Given the description of an element on the screen output the (x, y) to click on. 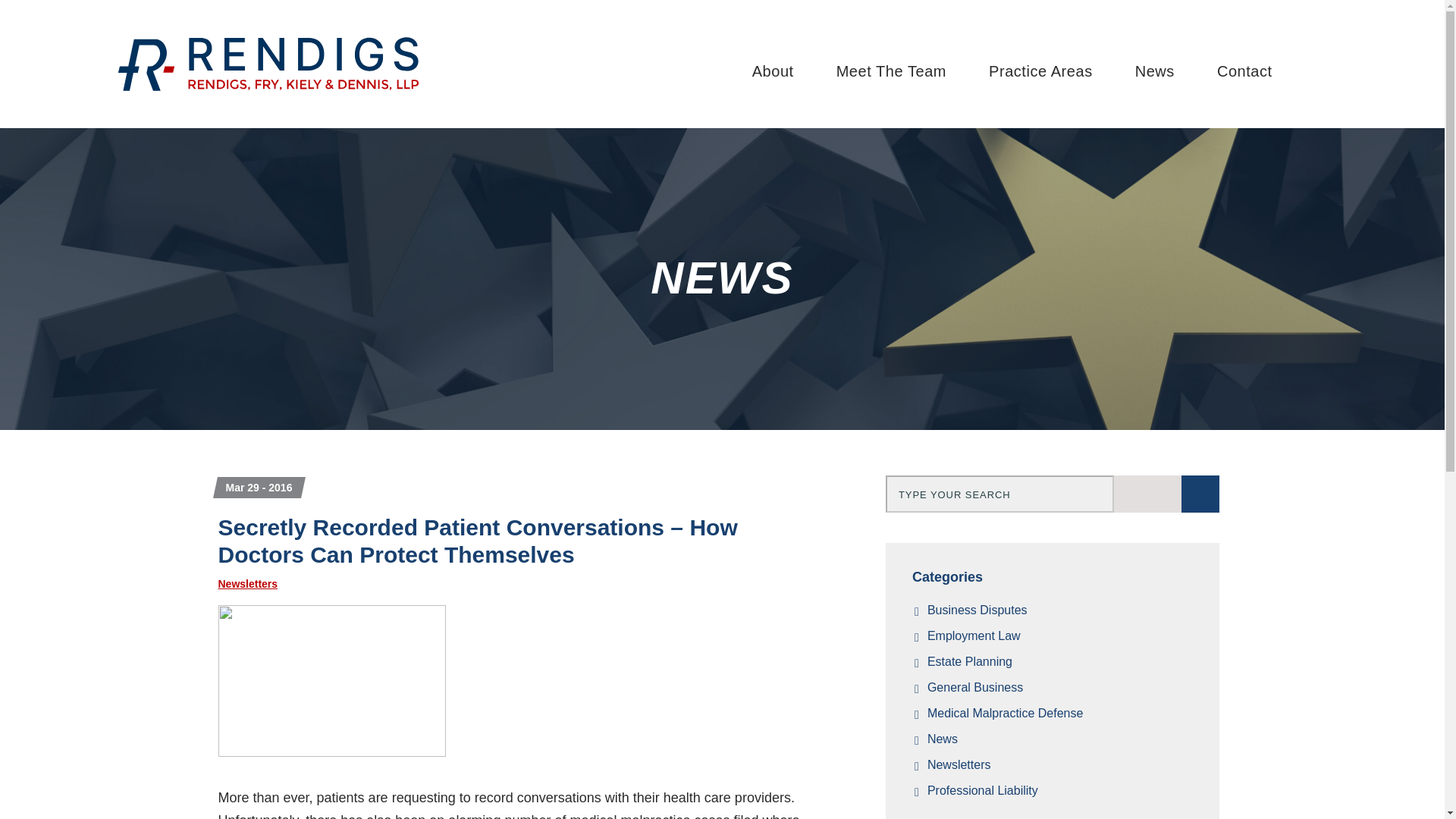
OPEN SITE SEARCH (1323, 71)
News (1154, 70)
About (772, 70)
Practice Areas (1040, 70)
Contact (1244, 70)
Newsletters (248, 583)
Business Disputes (1059, 610)
Meet The Team (890, 70)
